Given the description of an element on the screen output the (x, y) to click on. 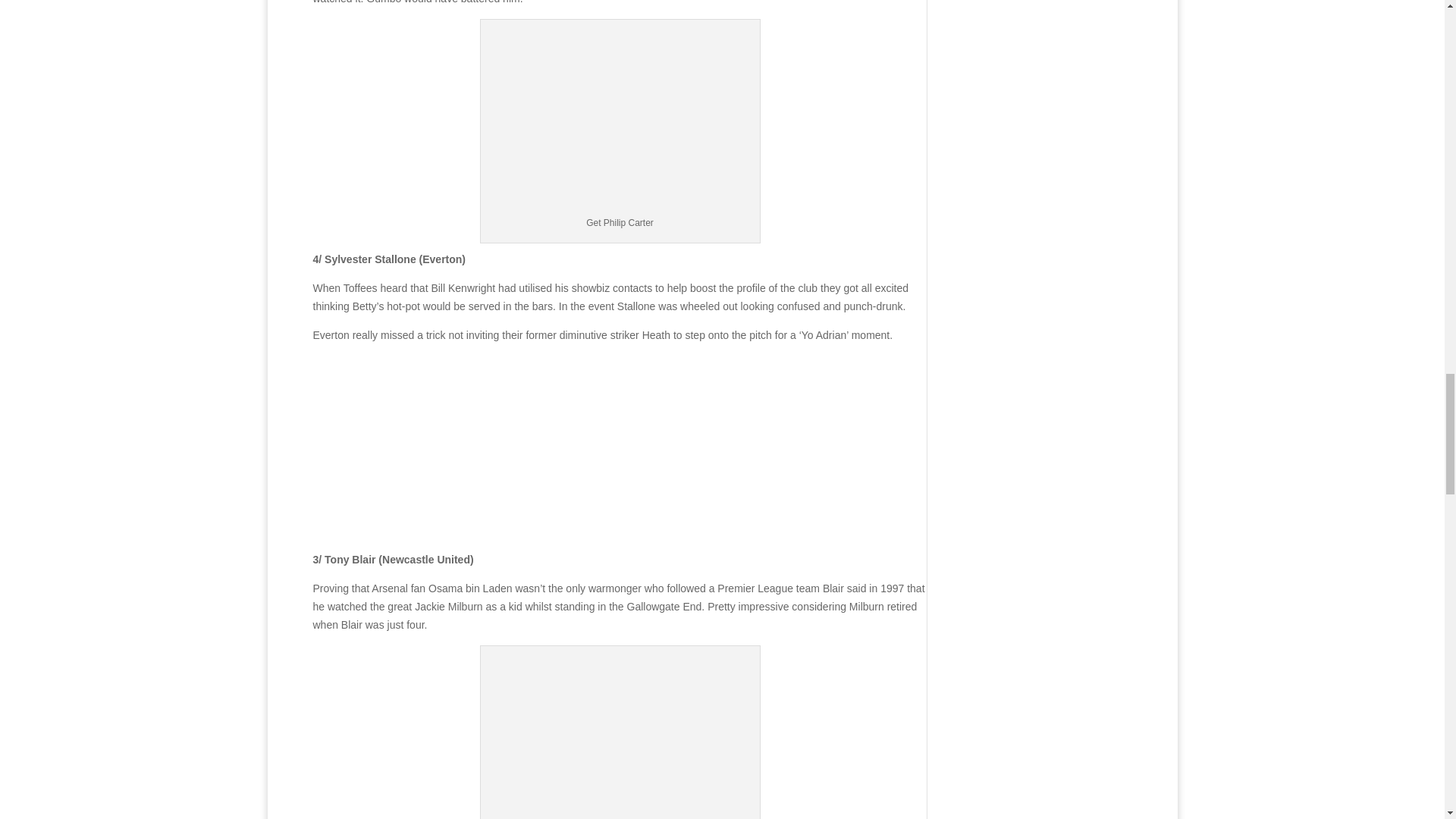
6a00d83451620669e200e54f876e008834-640wi1-e1348184385298 (620, 118)
